Given the description of an element on the screen output the (x, y) to click on. 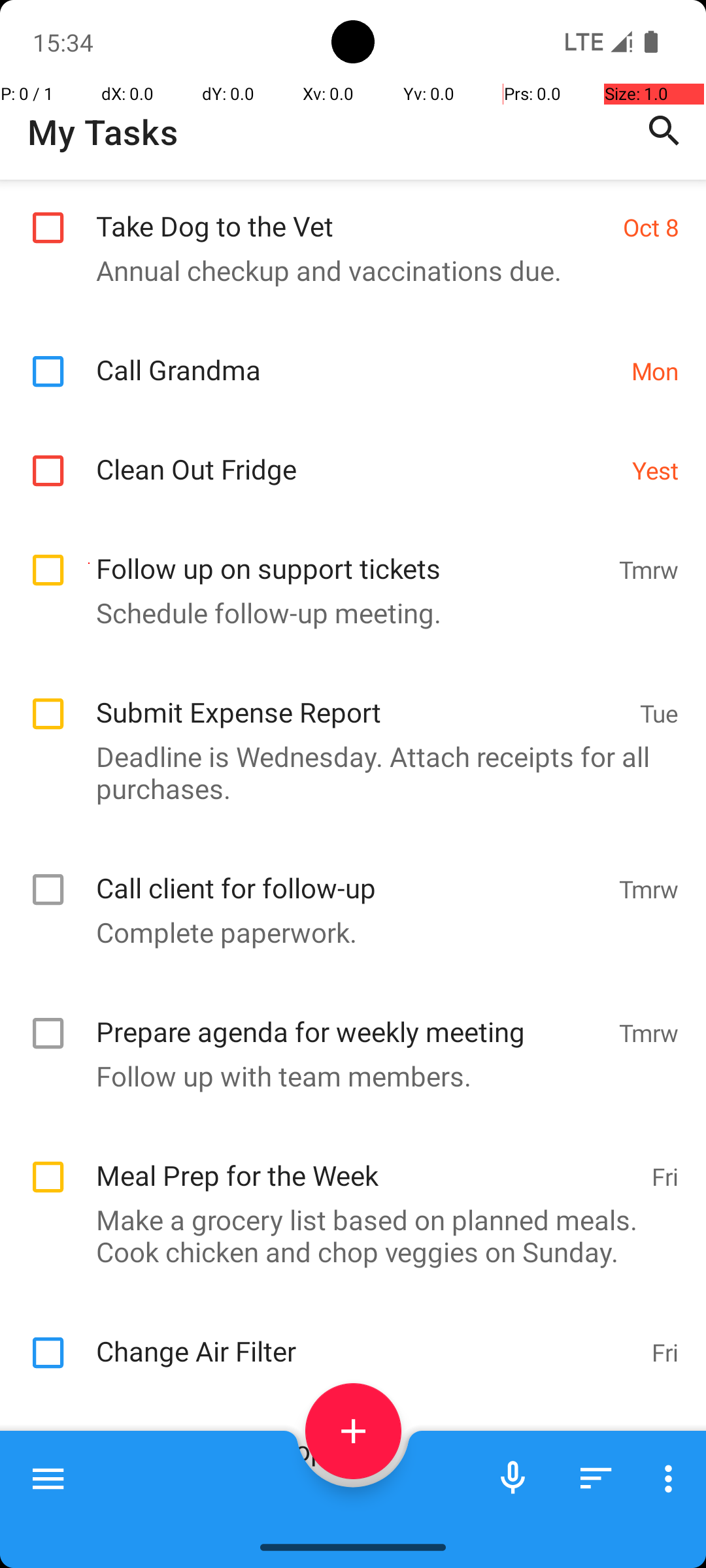
Take Dog to the Vet Element type: android.widget.TextView (352, 211)
Annual checkup and vaccinations due. Element type: android.widget.TextView (346, 269)
Oct 8 Element type: android.widget.TextView (650, 226)
Call Grandma Element type: android.widget.TextView (356, 355)
Mon Element type: android.widget.TextView (654, 370)
Clean Out Fridge Element type: android.widget.TextView (357, 454)
Follow up on support tickets Element type: android.widget.TextView (350, 554)
Schedule follow-up meeting. Element type: android.widget.TextView (346, 612)
Tmrw Element type: android.widget.TextView (648, 568)
Submit Expense Report Element type: android.widget.TextView (361, 697)
Deadline is Wednesday. Attach receipts for all purchases. Element type: android.widget.TextView (346, 771)
Call client for follow-up Element type: android.widget.TextView (350, 873)
Complete paperwork. Element type: android.widget.TextView (346, 931)
Prepare agenda for weekly meeting Element type: android.widget.TextView (350, 1017)
Follow up with team members. Element type: android.widget.TextView (346, 1075)
Meal Prep for the Week Element type: android.widget.TextView (367, 1160)
Make a grocery list based on planned meals. Cook chicken and chop veggies on Sunday. Element type: android.widget.TextView (346, 1235)
Change Air Filter Element type: android.widget.TextView (367, 1336)
Finish Project Proposal Element type: android.widget.TextView (363, 1436)
Sat Element type: android.widget.TextView (661, 1450)
